Given the description of an element on the screen output the (x, y) to click on. 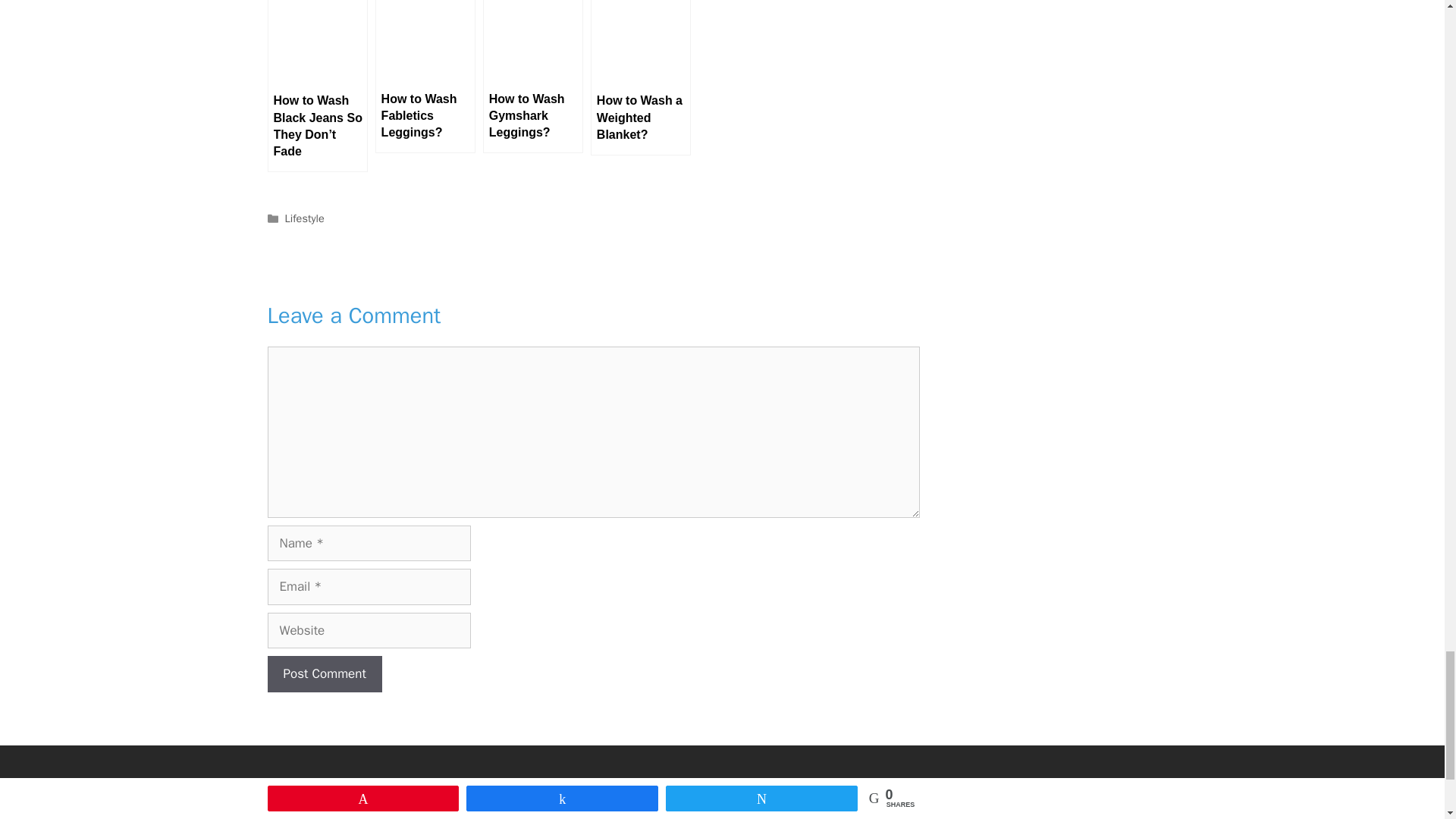
Post Comment (323, 674)
